Given the description of an element on the screen output the (x, y) to click on. 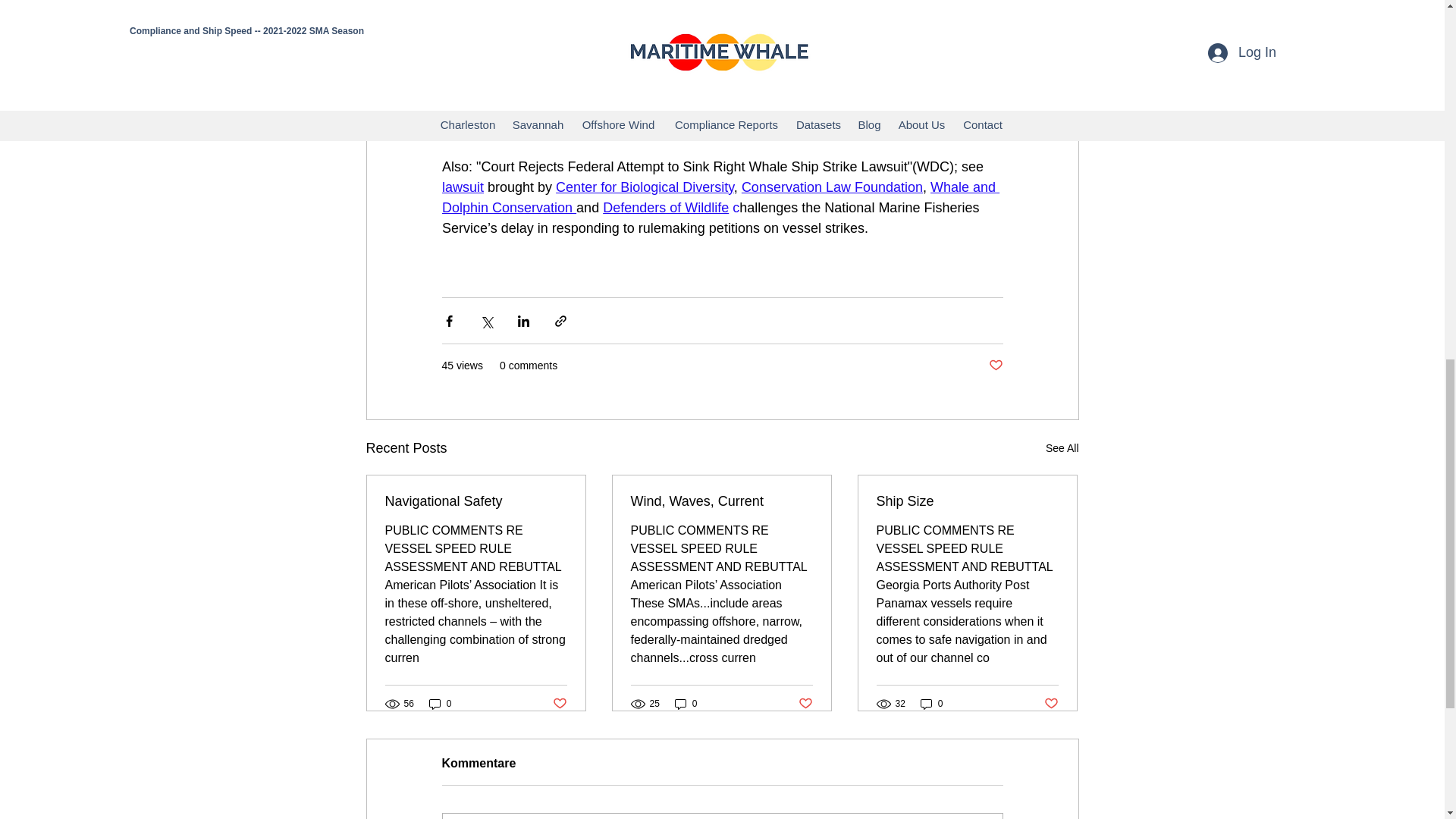
Post not marked as liked (804, 703)
public comments (719, 115)
Whale and Dolphin C (719, 197)
Navigational Safety (476, 501)
See All (1061, 448)
Center for Biological Diversity (644, 186)
awsuit (463, 186)
0 (685, 703)
Ship Size (967, 501)
Wind, Waves, Current (721, 501)
Conservation Law Foundation (831, 186)
Post not marked as liked (995, 365)
0 (440, 703)
0 (931, 703)
